Given the description of an element on the screen output the (x, y) to click on. 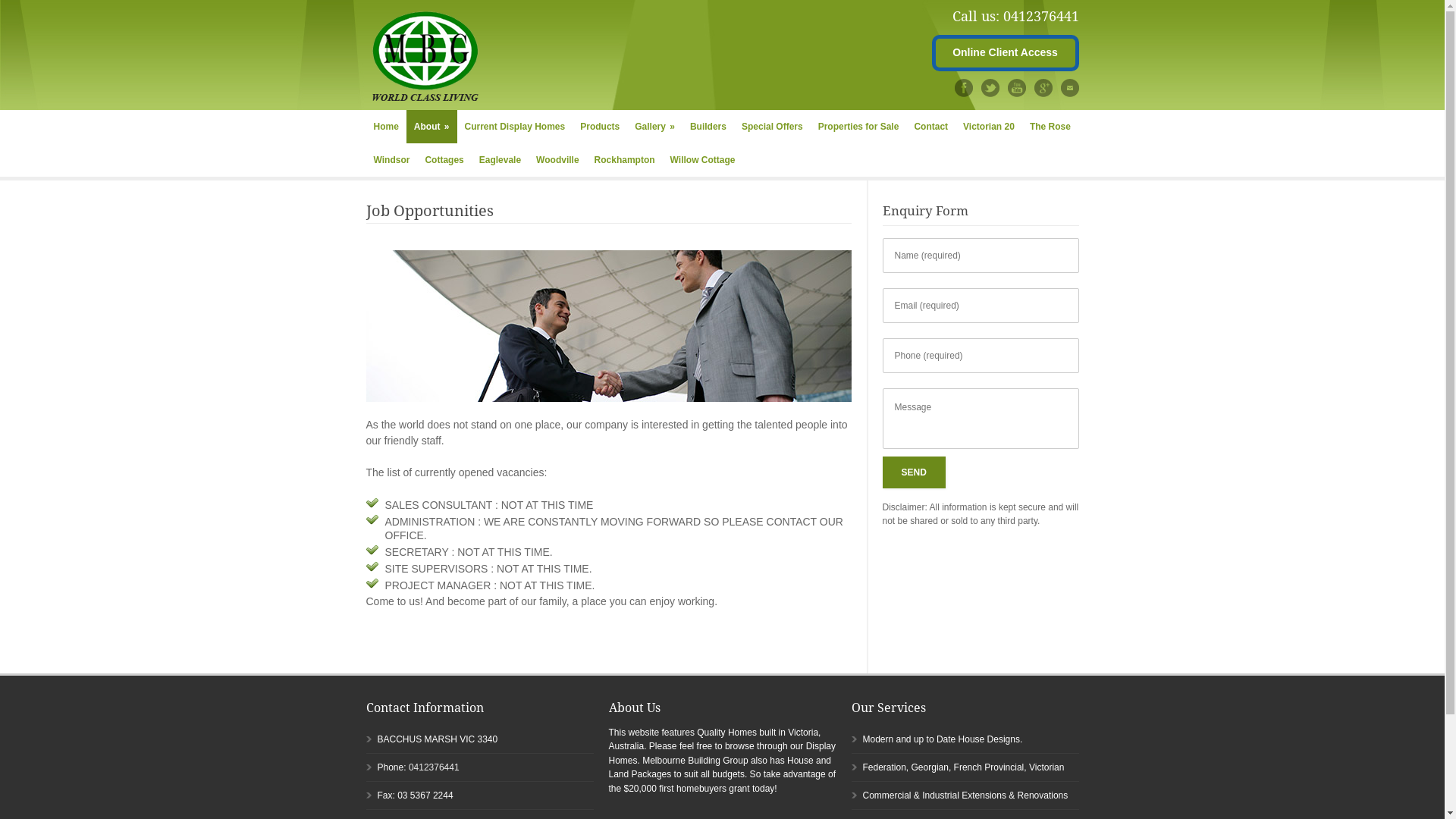
Online Client Access Element type: text (1004, 52)
Rockhampton Element type: text (624, 159)
Home Element type: text (385, 126)
Current Display Homes Element type: text (515, 126)
Willow Cottage Element type: text (702, 159)
Send Element type: text (913, 472)
0412376441 Element type: text (433, 767)
Cottages Element type: text (443, 159)
0412376441 Element type: text (1040, 16)
Victorian 20 Element type: text (988, 126)
Properties for Sale Element type: text (858, 126)
Windsor Element type: text (391, 159)
Products Element type: text (599, 126)
Special Offers Element type: text (772, 126)
Woodville Element type: text (557, 159)
Builders Element type: text (708, 126)
The Rose Element type: text (1050, 126)
Contact Element type: text (930, 126)
Eaglevale Element type: text (499, 159)
